Given the description of an element on the screen output the (x, y) to click on. 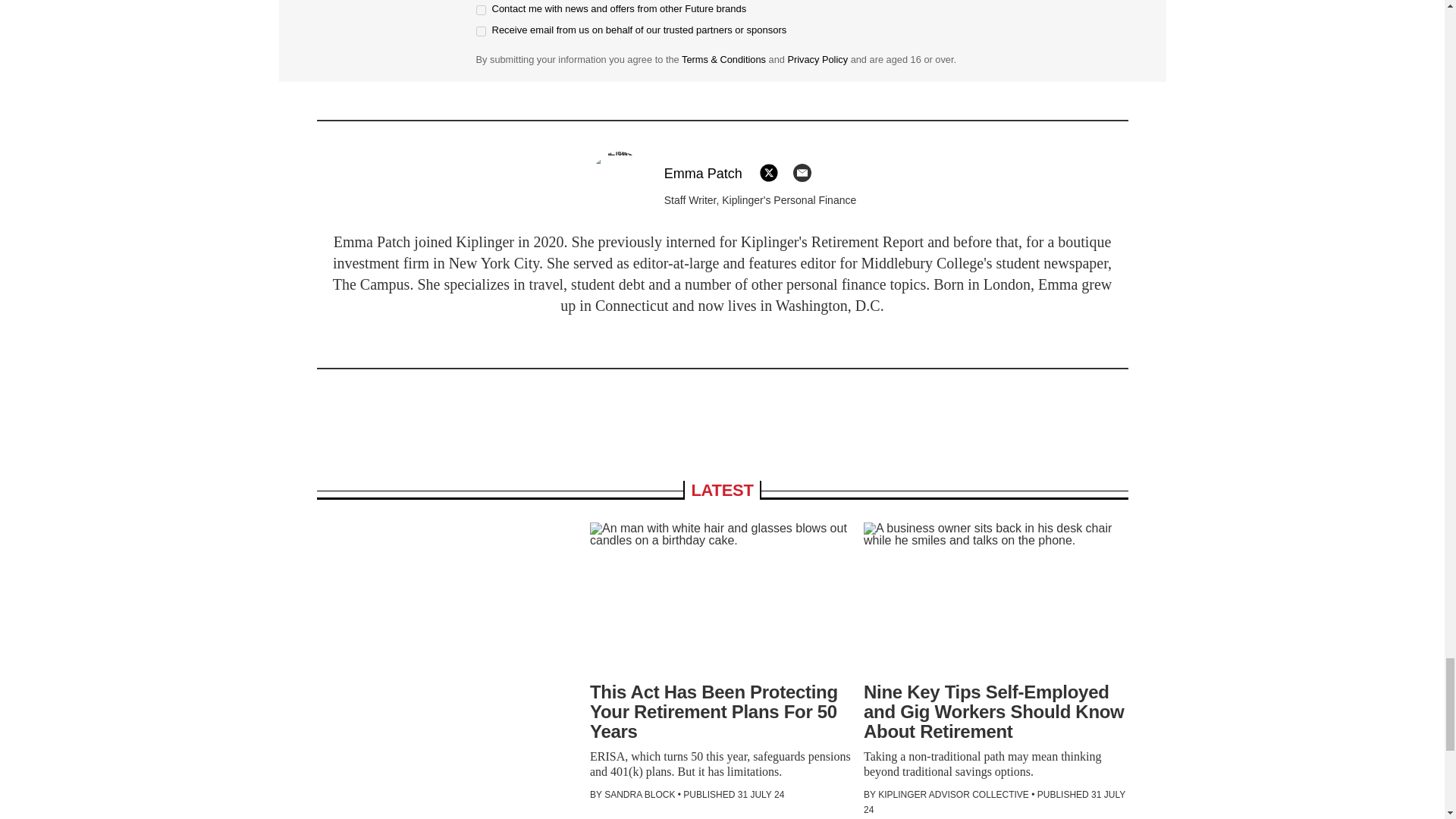
on (481, 31)
on (481, 9)
